Given the description of an element on the screen output the (x, y) to click on. 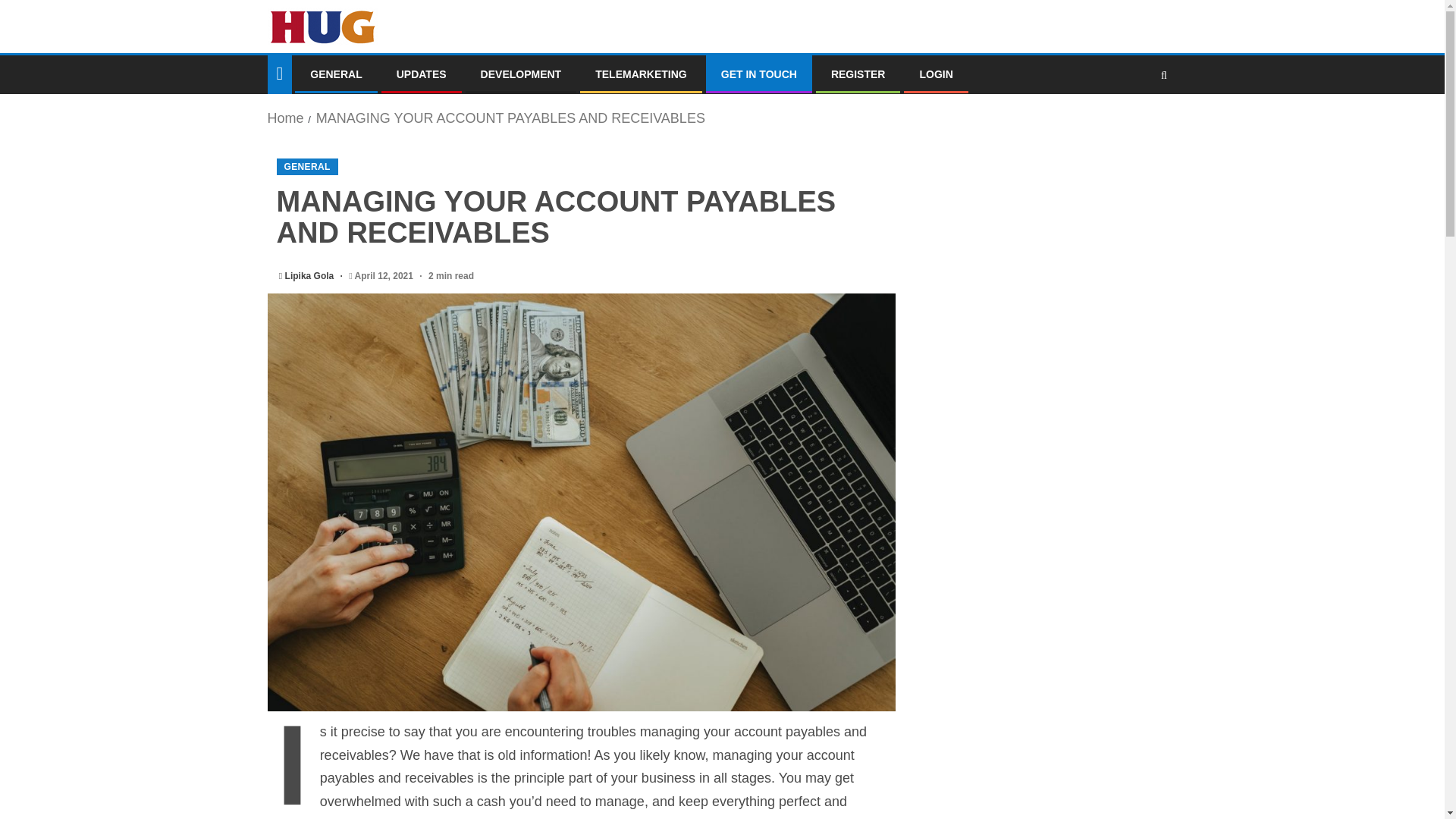
LOGIN (935, 73)
MANAGING YOUR ACCOUNT PAYABLES AND RECEIVABLES (509, 118)
UPDATES (421, 73)
TELEMARKETING (641, 73)
GENERAL (306, 166)
GENERAL (335, 73)
Search (1133, 120)
DEVELOPMENT (521, 73)
REGISTER (858, 73)
Lipika Gola (310, 276)
Home (284, 118)
GET IN TOUCH (758, 73)
